Given the description of an element on the screen output the (x, y) to click on. 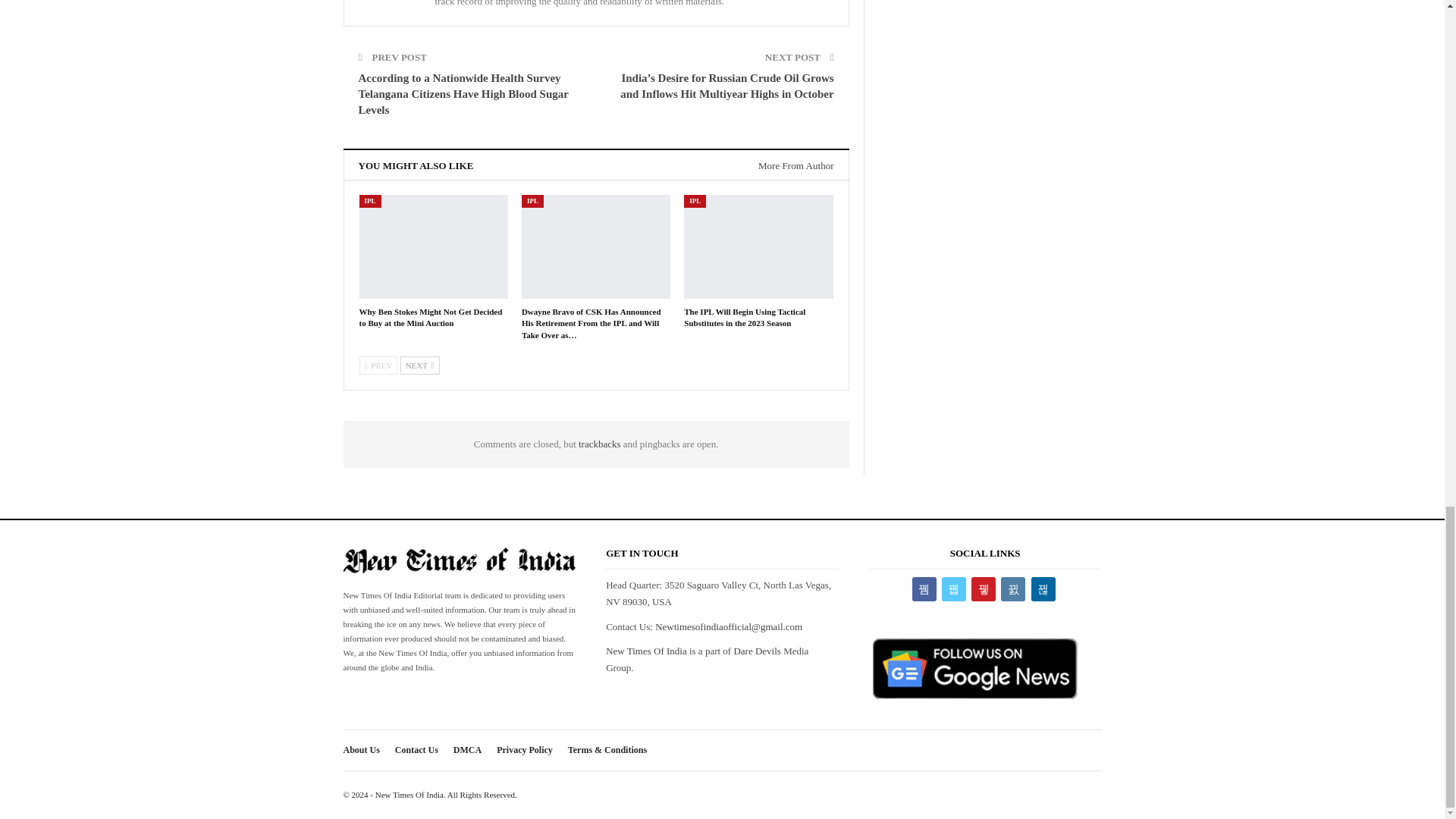
Next (419, 365)
Previous (378, 365)
